Given the description of an element on the screen output the (x, y) to click on. 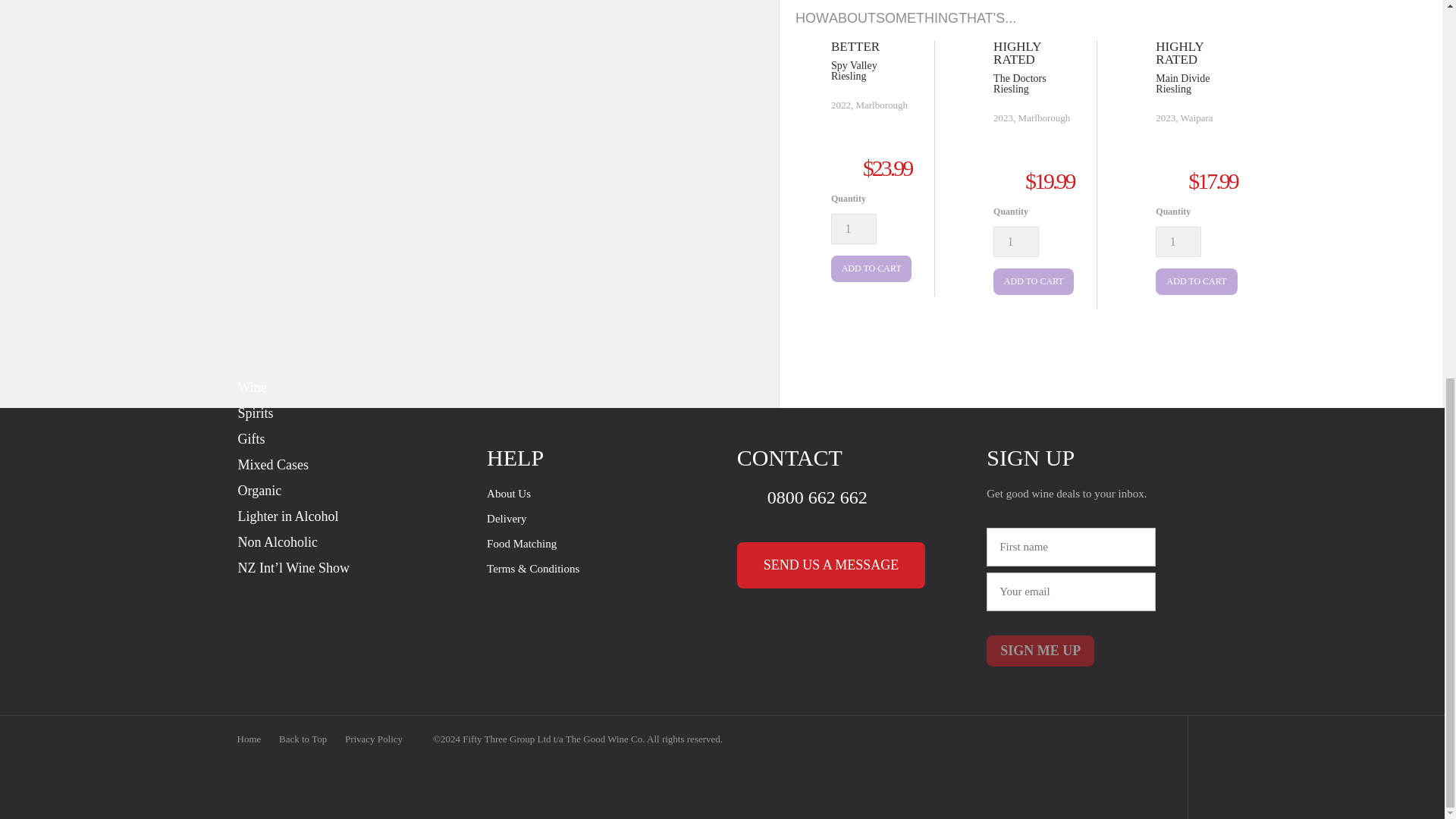
1 (853, 228)
1 (1015, 241)
SIGN ME UP (1040, 650)
1 (1178, 241)
